Given the description of an element on the screen output the (x, y) to click on. 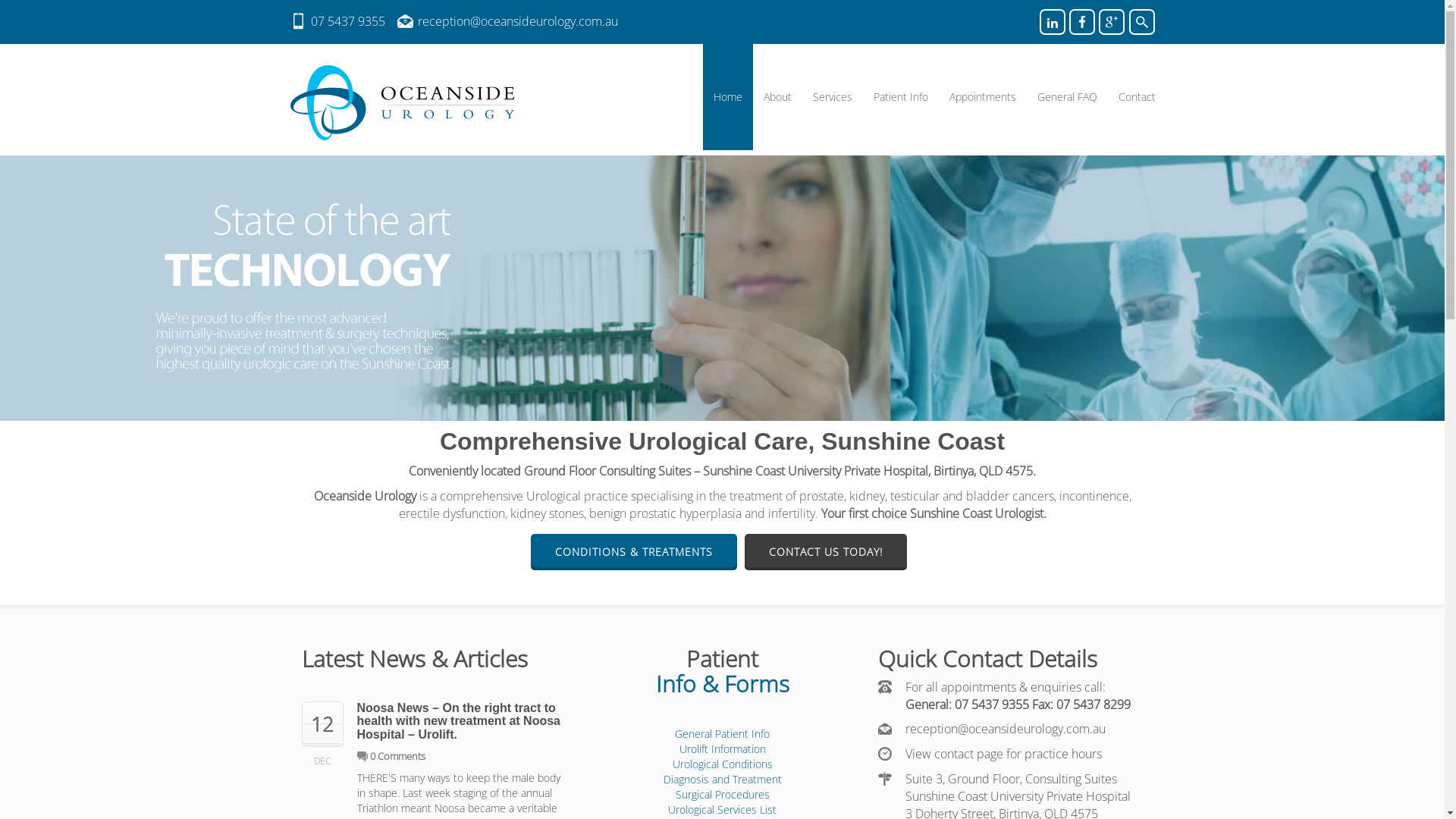
Surgical Procedures Element type: text (721, 794)
Urolift Information Element type: text (722, 748)
Patient Info Element type: text (900, 96)
CONDITIONS & TREATMENTS Element type: text (633, 551)
About Element type: text (776, 96)
Services Element type: text (832, 96)
Urological Services List Element type: text (722, 809)
Appointments Element type: text (982, 96)
Home Element type: text (727, 96)
General Patient Info Element type: text (721, 733)
General FAQ Element type: text (1066, 96)
Contact Element type: text (1136, 96)
Urological Conditions Element type: text (721, 763)
CONTACT US TODAY! Element type: text (825, 551)
Diagnosis and Treatment Element type: text (721, 778)
